Given the description of an element on the screen output the (x, y) to click on. 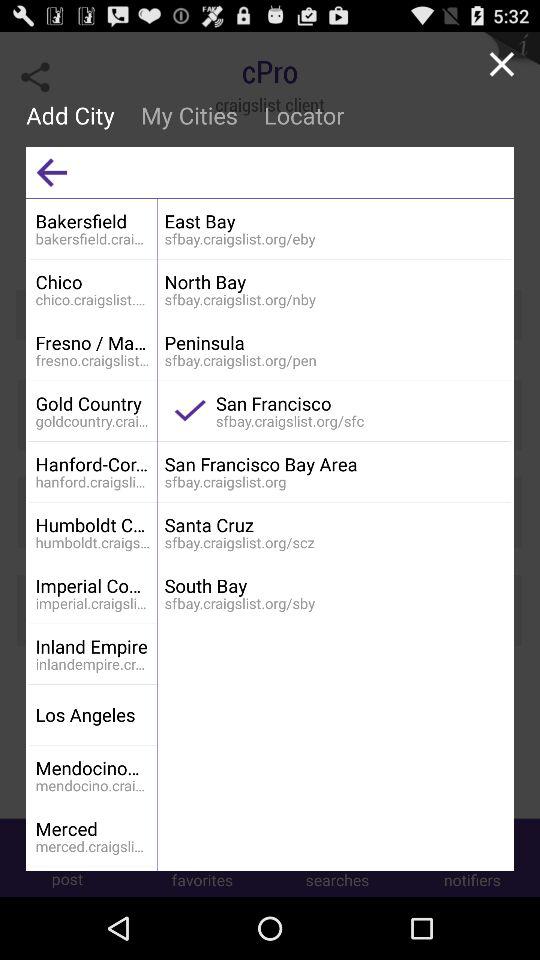
click the app below los angeles app (92, 767)
